Given the description of an element on the screen output the (x, y) to click on. 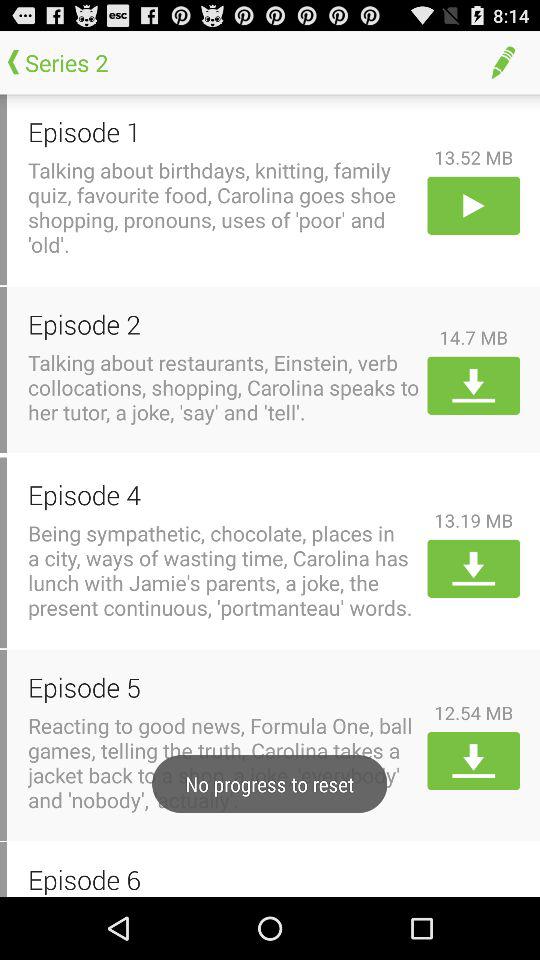
select the item above reacting to good icon (224, 686)
